Given the description of an element on the screen output the (x, y) to click on. 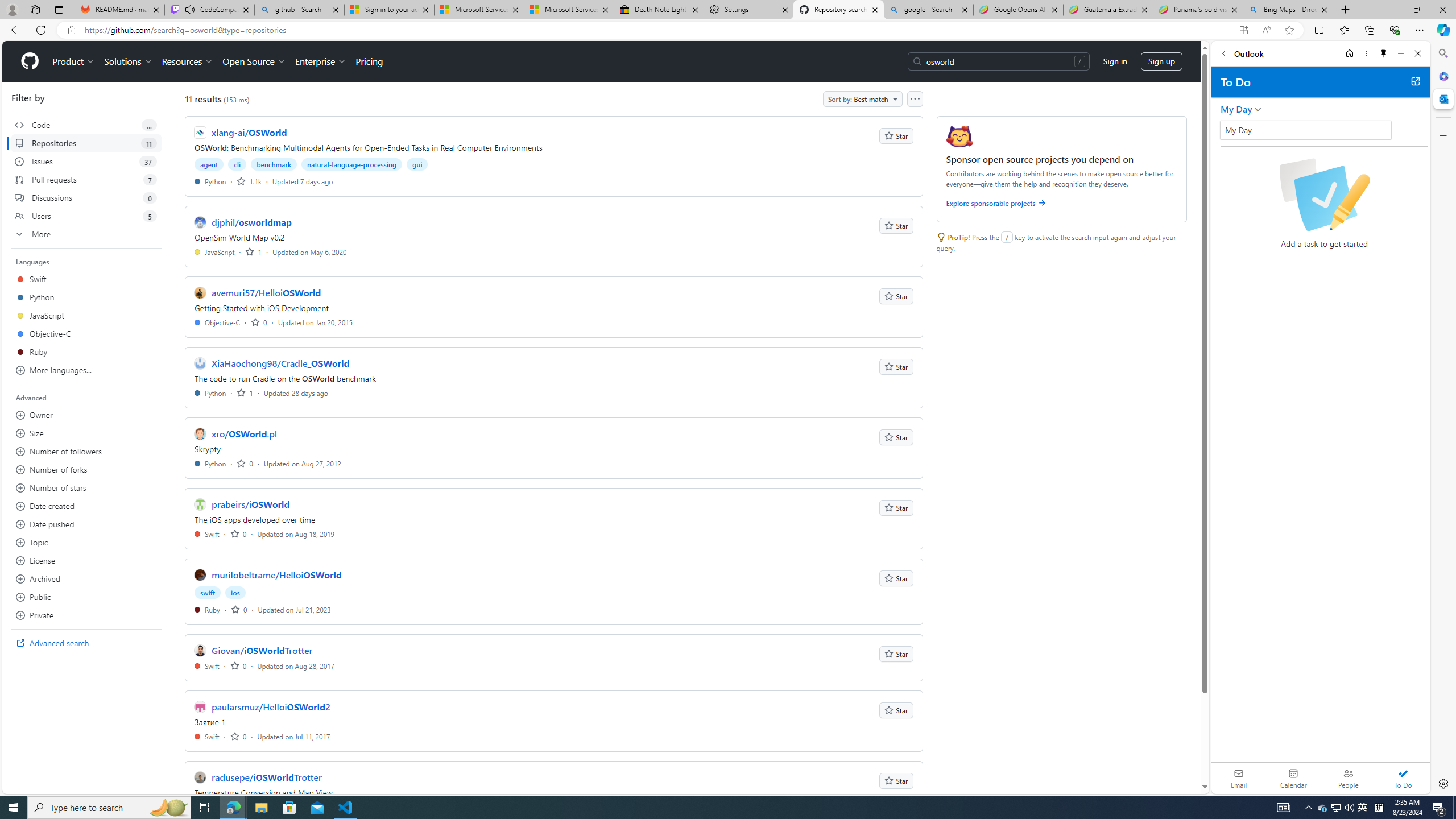
avemuri57/HelloiOSWorld (266, 292)
djphil/osworldmap (251, 222)
More languages... (86, 370)
Updated on May 6, 2020 (309, 251)
Python (210, 462)
Updated on Jan 20, 2015 (315, 321)
Ruby (207, 609)
